Given the description of an element on the screen output the (x, y) to click on. 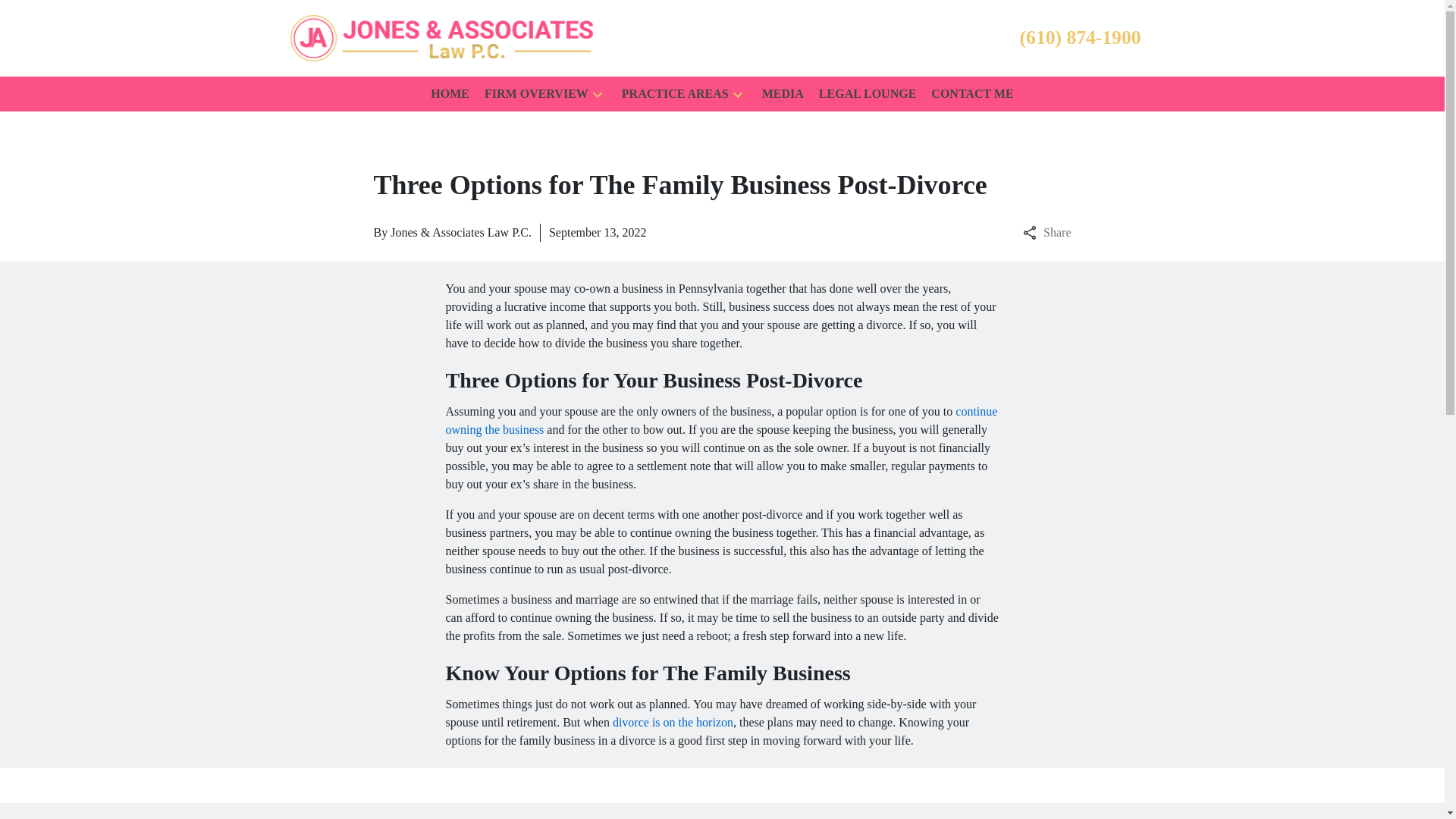
LEGAL LOUNGE (866, 94)
FIRM OVERVIEW (536, 94)
PRACTICE AREAS (675, 94)
HOME (449, 94)
MEDIA (782, 94)
Share (1046, 232)
continue owning the business (721, 419)
divorce is on the horizon (672, 721)
CONTACT ME (972, 94)
